Given the description of an element on the screen output the (x, y) to click on. 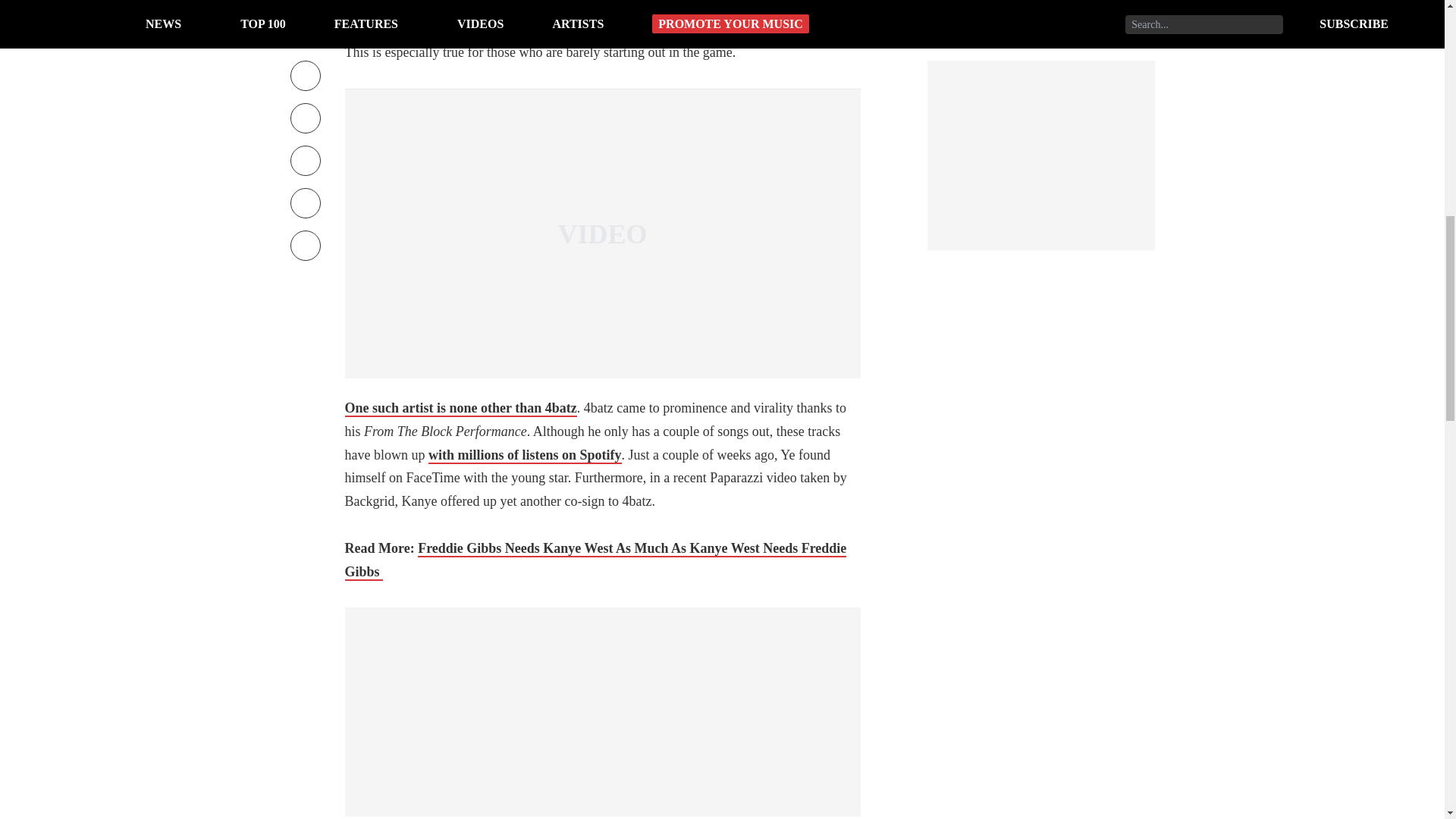
with millions of listens on Spotify (524, 455)
Desiigner (567, 7)
One such artist is none other than 4batz (459, 408)
